Given the description of an element on the screen output the (x, y) to click on. 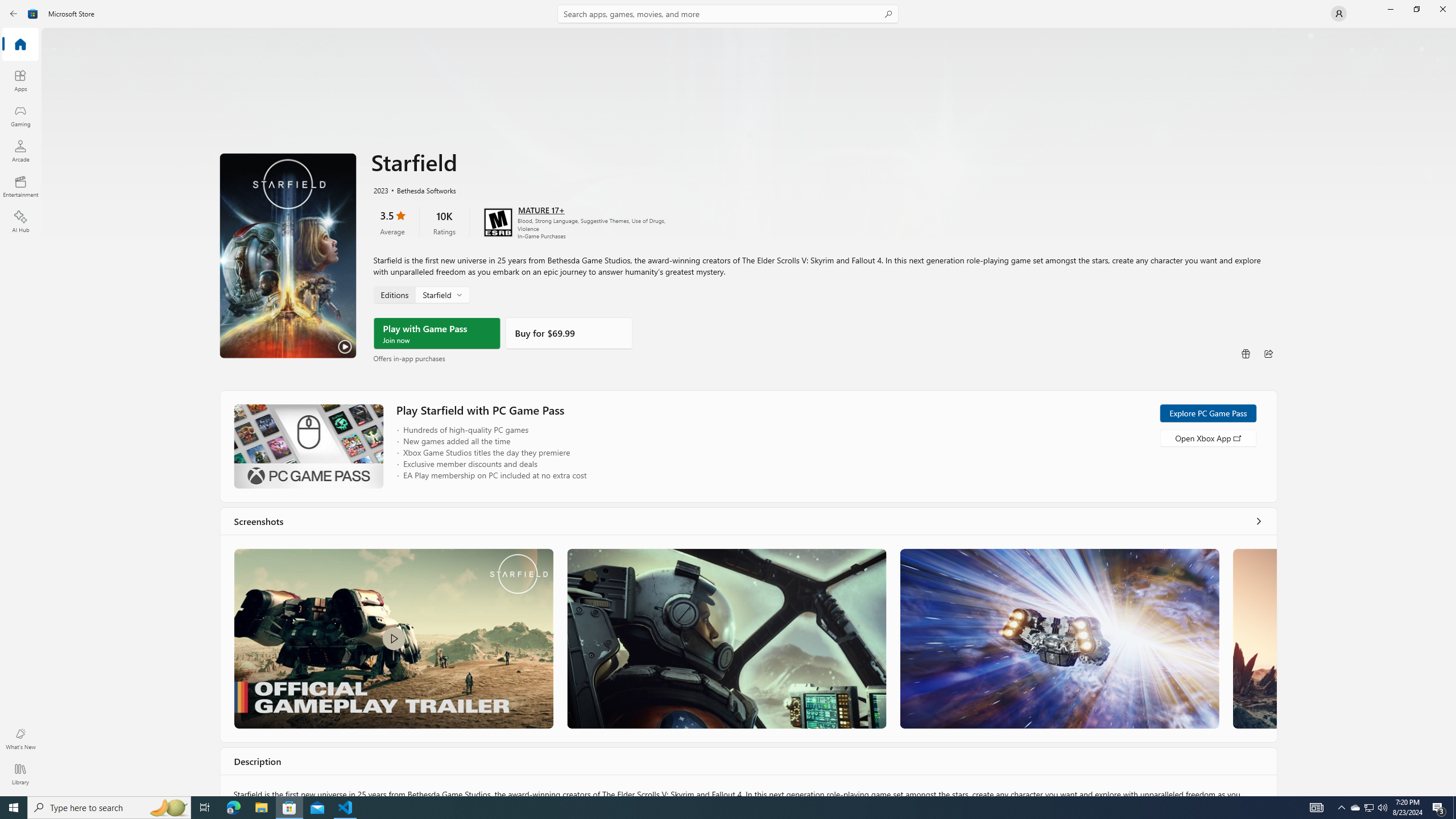
Share (1267, 353)
Screenshot 4 (1253, 638)
Minimize Microsoft Store (1390, 9)
Age rating: MATURE 17+. Click for more information. (540, 208)
Library (20, 773)
2023 (379, 189)
AI Hub (20, 221)
See all (1258, 520)
Back (13, 13)
What's New (20, 738)
Close Microsoft Store (1442, 9)
Screenshot 2 (725, 638)
Buy as gift (1245, 353)
Arcade (20, 150)
AutomationID: NavigationControl (728, 398)
